Given the description of an element on the screen output the (x, y) to click on. 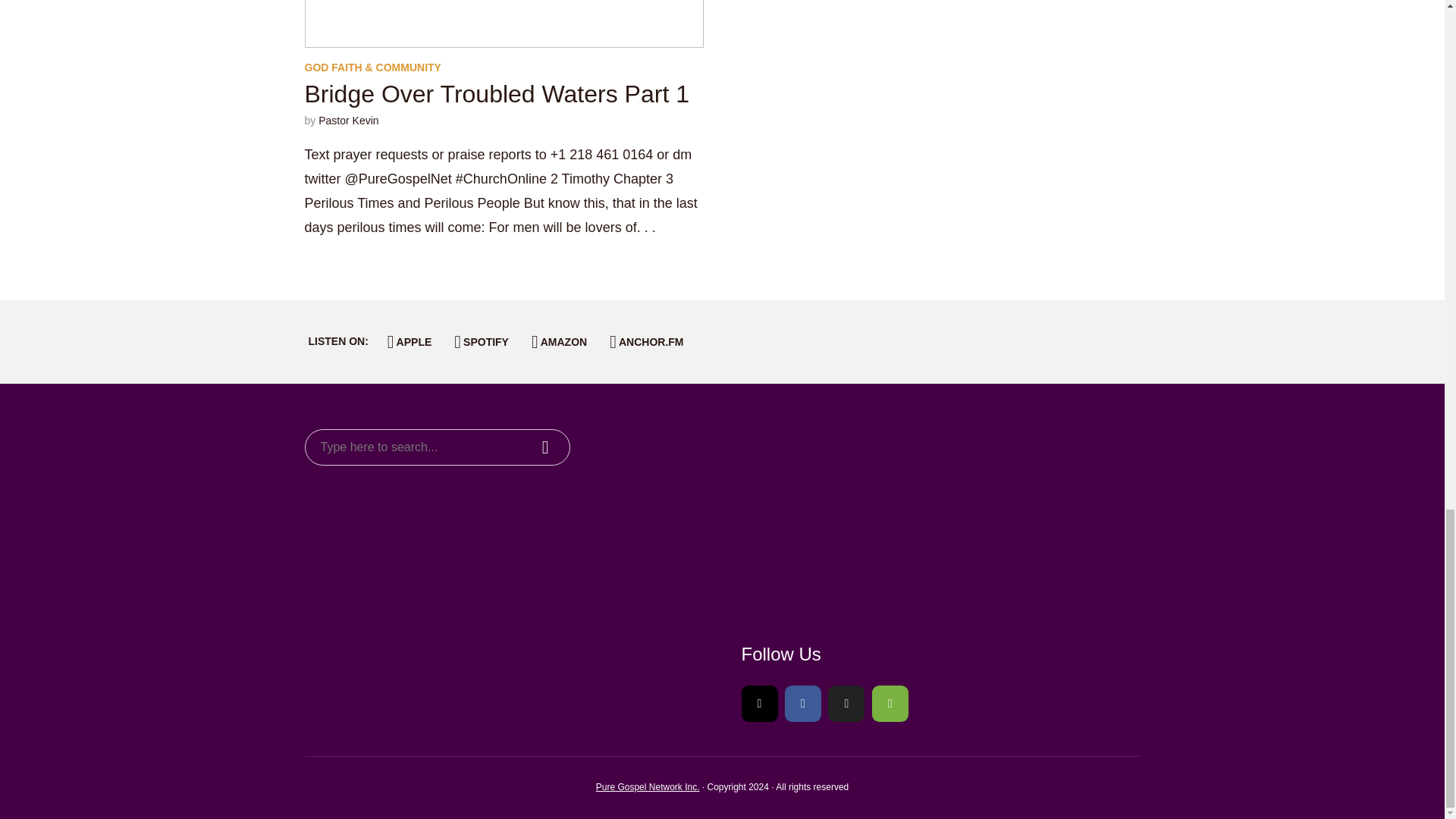
Facebook (802, 703)
Instagram (759, 703)
Spotify (890, 703)
